Given the description of an element on the screen output the (x, y) to click on. 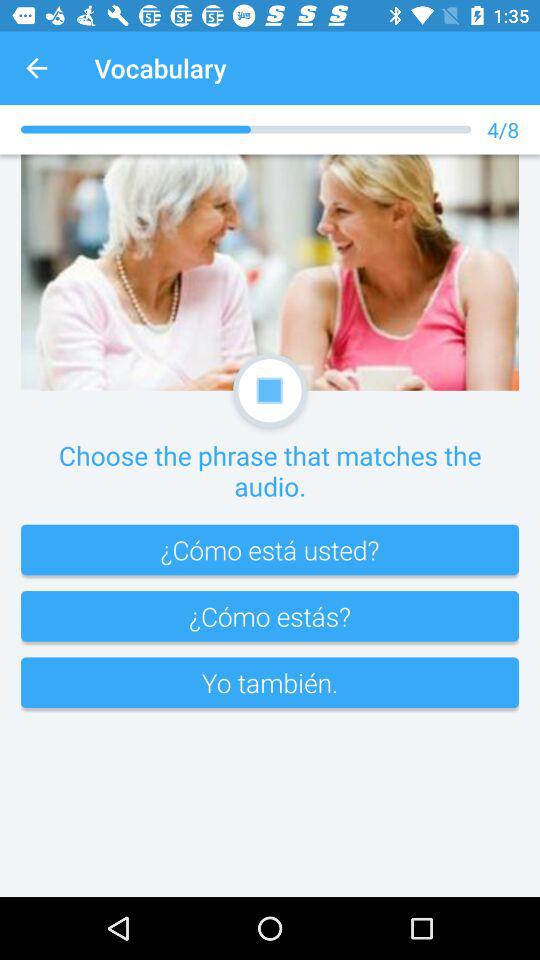
launch app to the left of vocabulary item (36, 68)
